Given the description of an element on the screen output the (x, y) to click on. 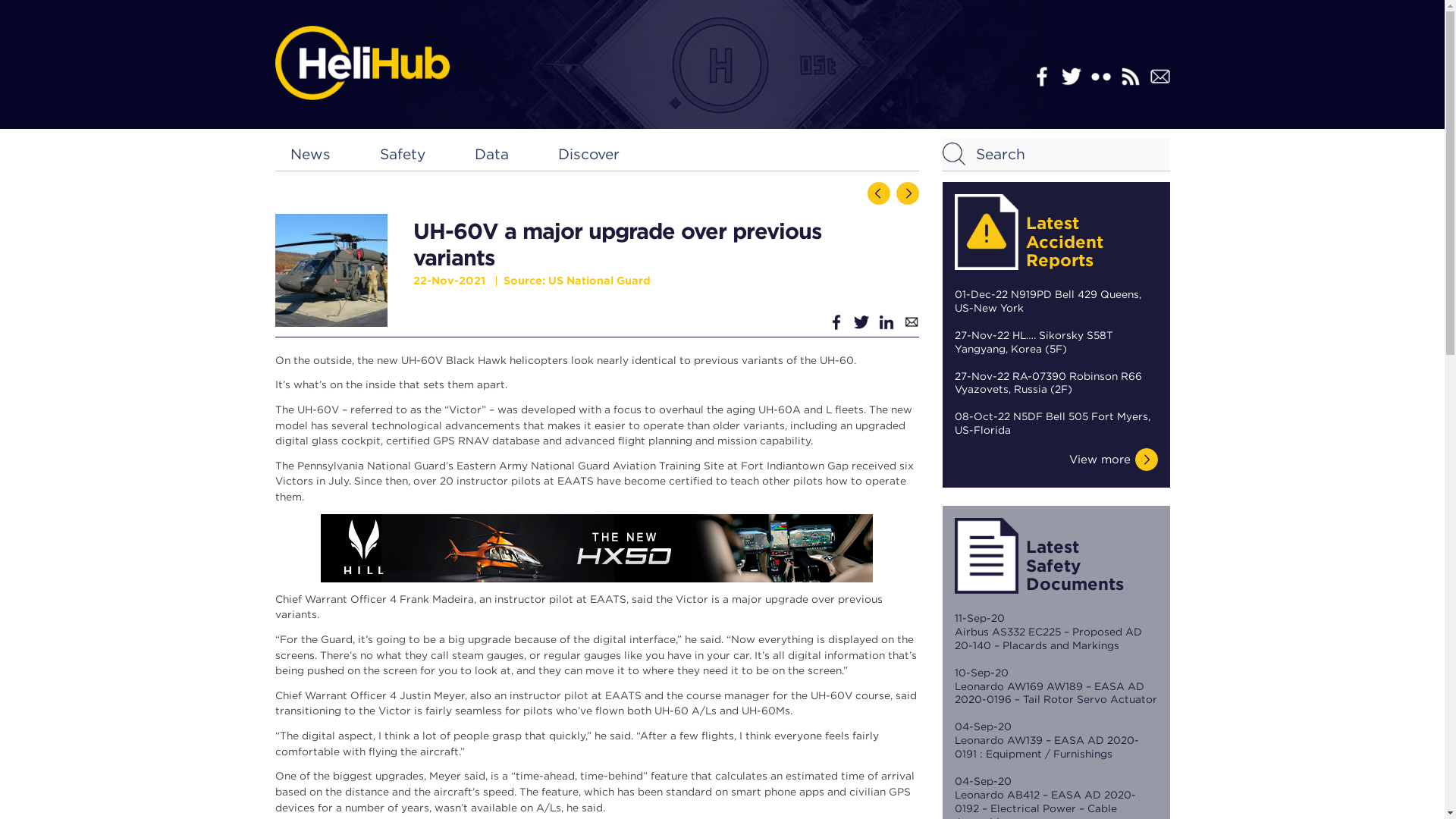
Facebook (1040, 76)
Subscribe (1159, 76)
HeliHub.com (361, 62)
Flickr (1099, 76)
Safety (401, 154)
UH-60V a major upgrade over previous variants (331, 269)
Twitter (1071, 76)
Data (492, 154)
Discover (588, 154)
RSS (1130, 76)
